Given the description of an element on the screen output the (x, y) to click on. 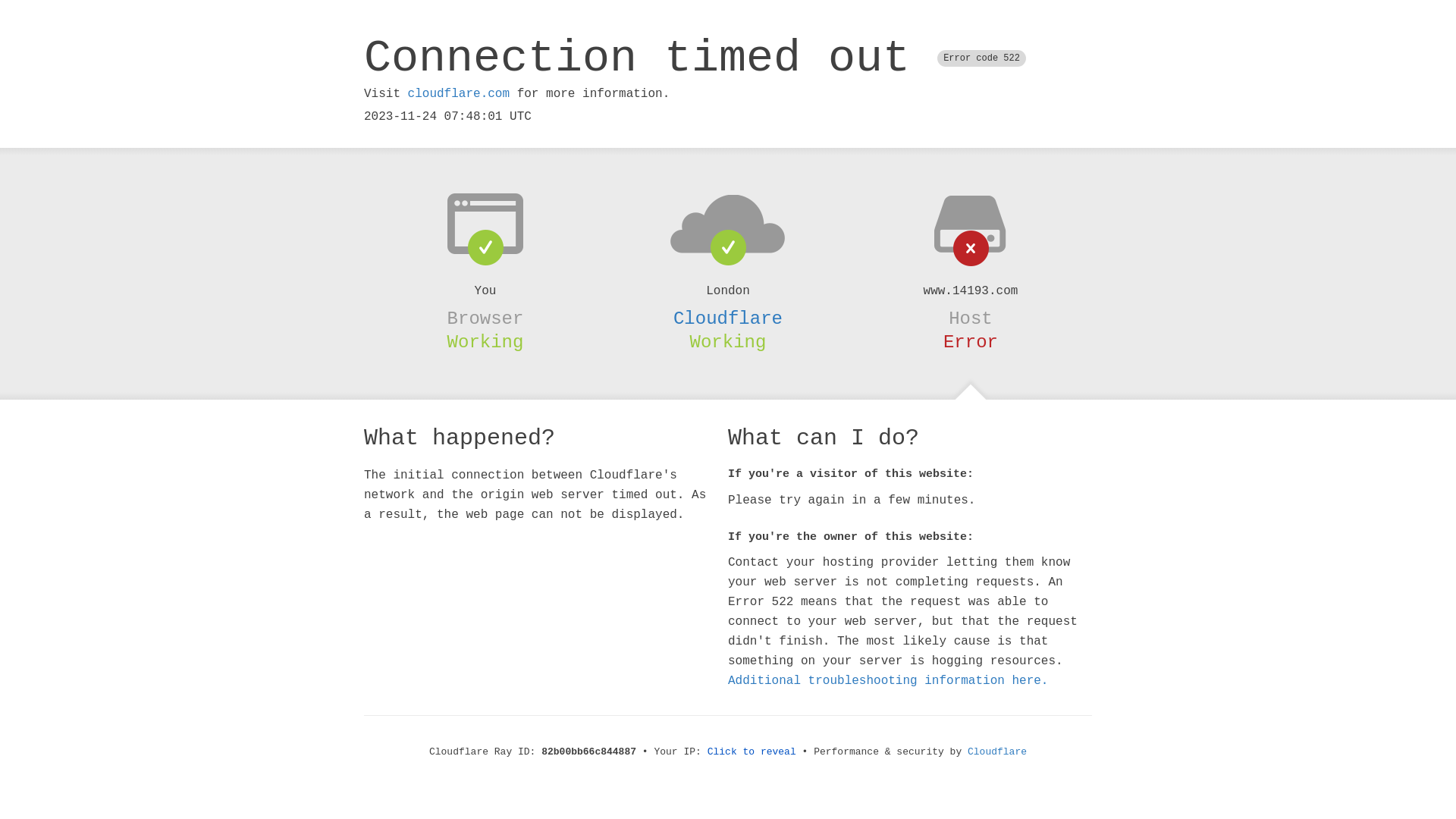
cloudflare.com Element type: text (458, 93)
Click to reveal Element type: text (751, 751)
Cloudflare Element type: text (996, 751)
Cloudflare Element type: text (727, 318)
Additional troubleshooting information here. Element type: text (888, 680)
